Given the description of an element on the screen output the (x, y) to click on. 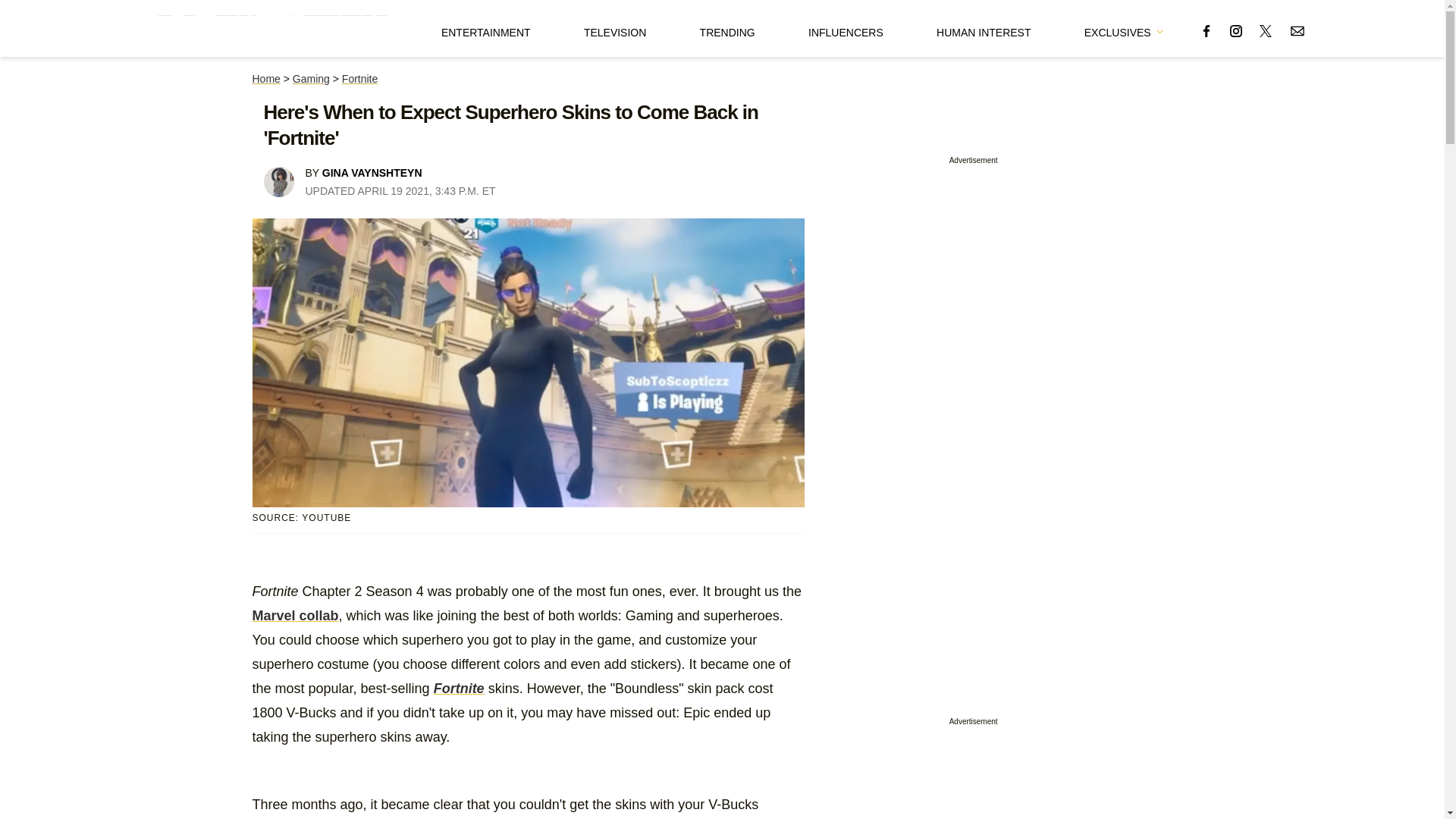
GINA VAYNSHTEYN (371, 173)
ENTERTAINMENT (486, 27)
LINK TO FACEBOOK (1205, 30)
TELEVISION (614, 27)
TRENDING (727, 27)
Home (265, 78)
LINK TO INSTAGRAM (1235, 30)
INFLUENCERS (845, 27)
Marvel collab (294, 615)
HUMAN INTEREST (983, 27)
